Given the description of an element on the screen output the (x, y) to click on. 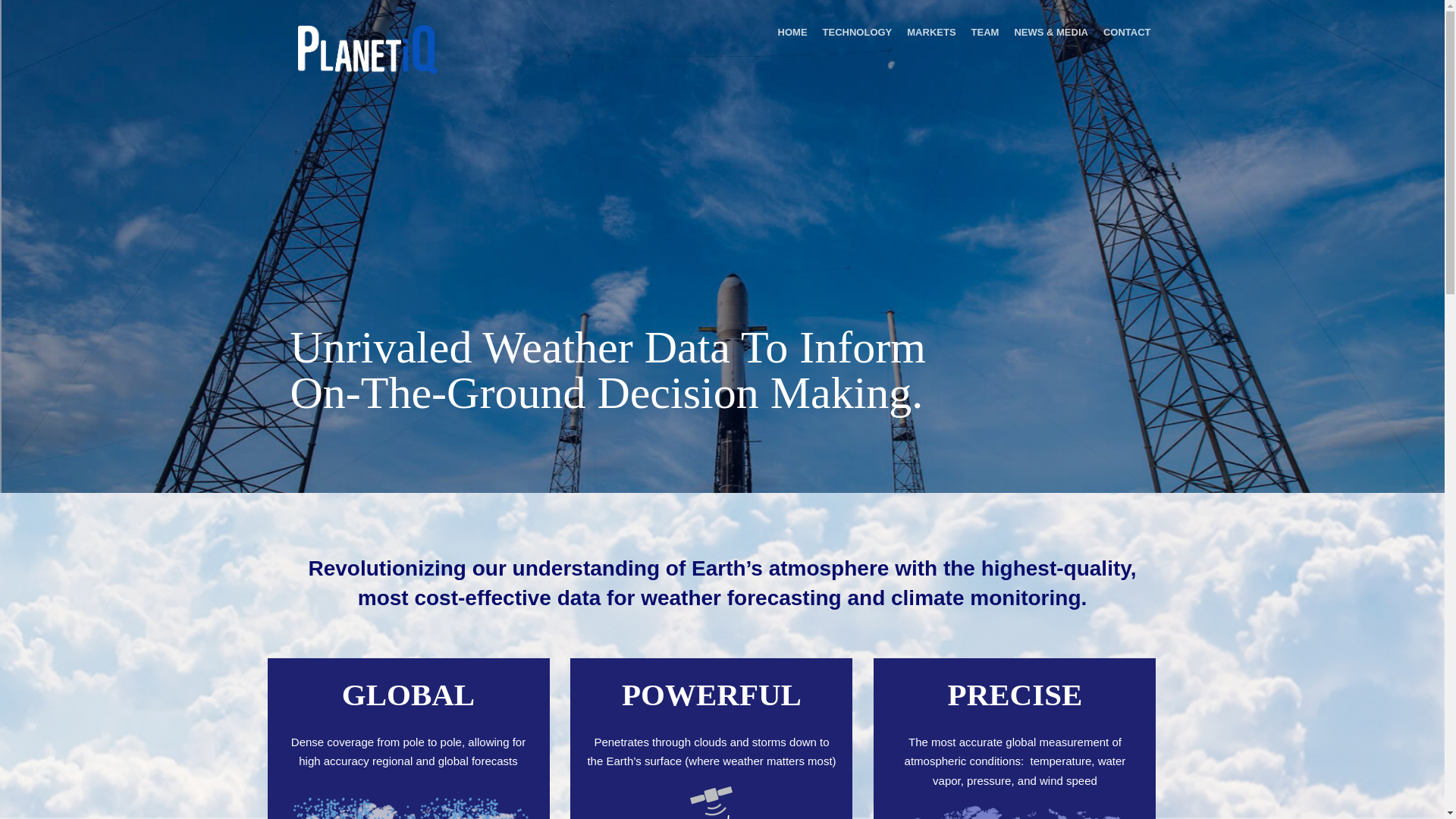
powerfull (710, 802)
global (408, 807)
TECHNOLOGY (857, 32)
MARKETS (930, 32)
CONTACT (1127, 32)
TEAM (985, 32)
HOME (792, 32)
precices (1014, 812)
